Given the description of an element on the screen output the (x, y) to click on. 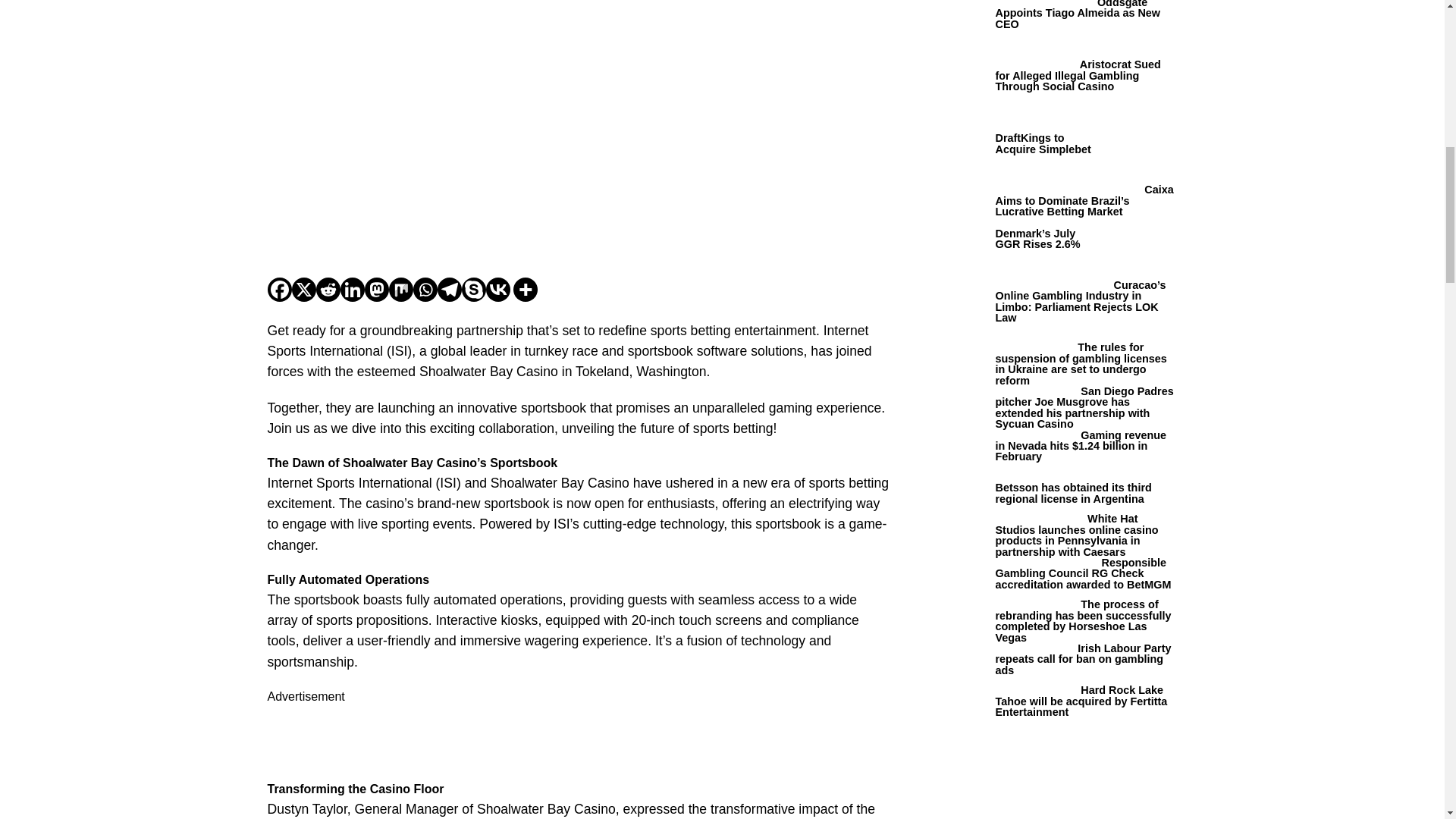
Telegram (448, 289)
Whatsapp (424, 289)
Reddit (327, 289)
X (303, 289)
Vkontakte (496, 289)
Mastodon (376, 289)
More (524, 289)
Linkedin (351, 289)
Facebook (278, 289)
Skype (472, 289)
